Given the description of an element on the screen output the (x, y) to click on. 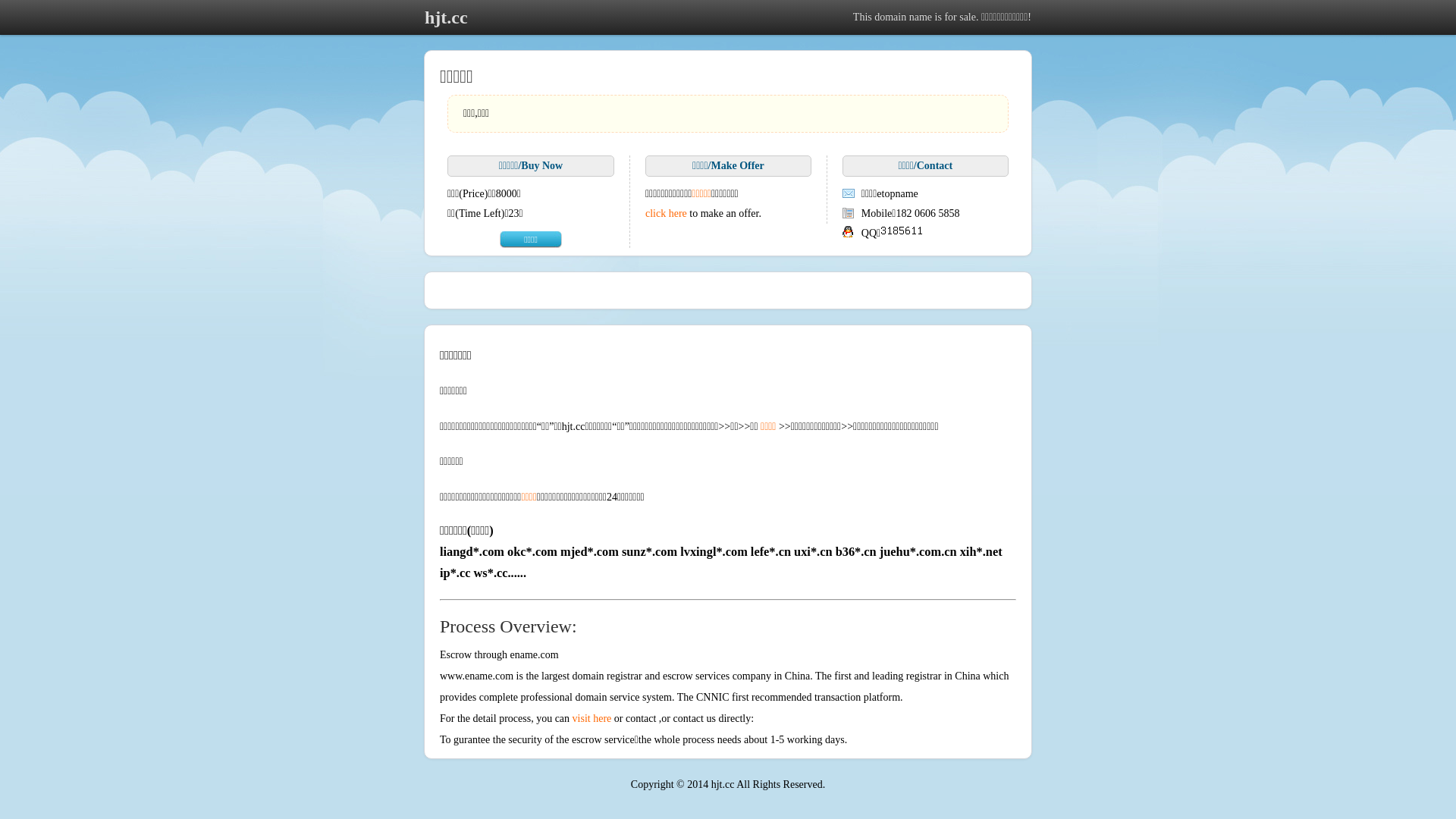
visit here Element type: text (591, 718)
click here Element type: text (666, 213)
